Given the description of an element on the screen output the (x, y) to click on. 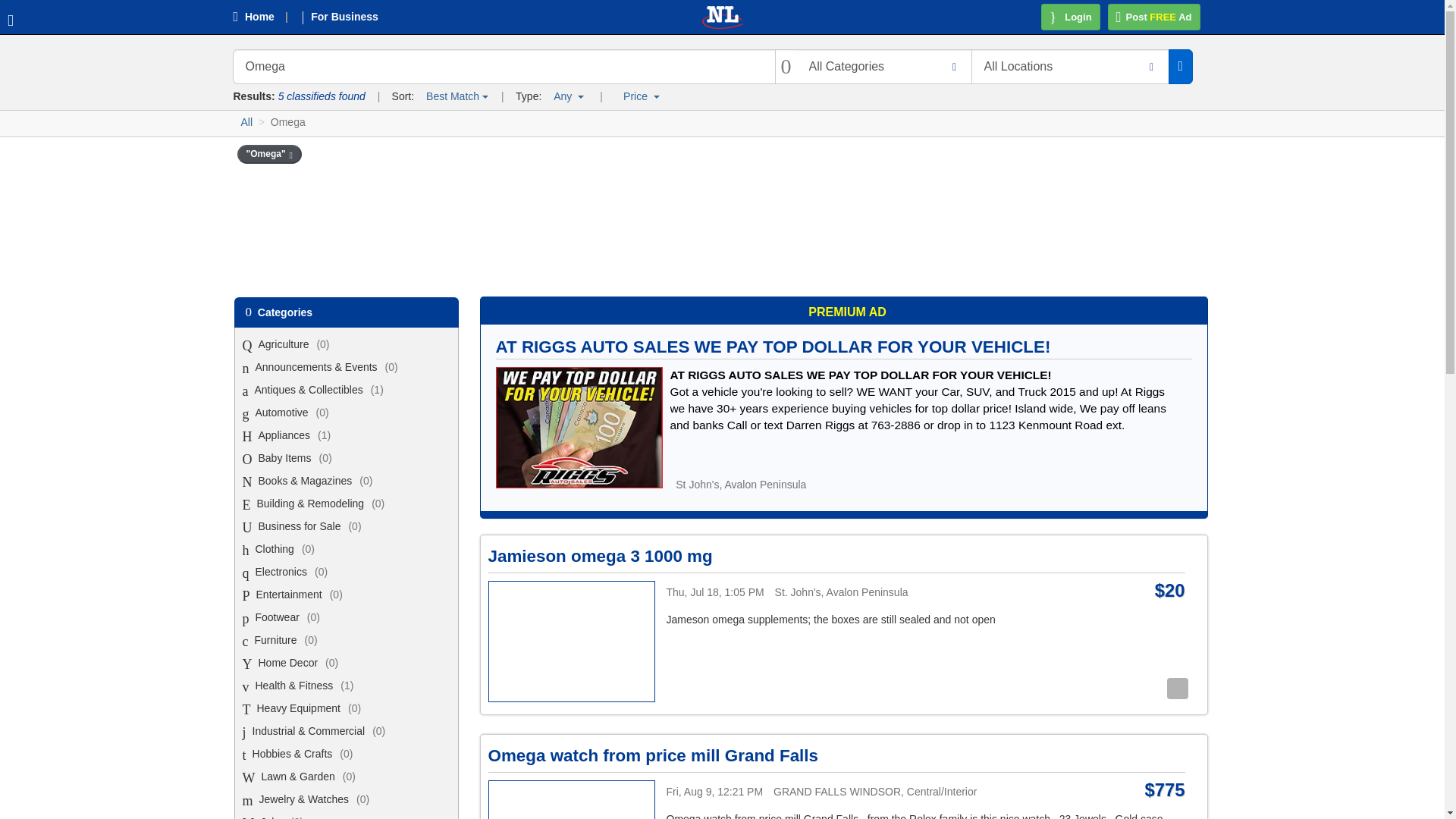
Login (1070, 17)
Home (265, 16)
All Categories (883, 66)
All Locations (1070, 66)
adTitle (579, 427)
For Business (349, 16)
Post FREE Ad (1153, 17)
Omega (502, 66)
